Given the description of an element on the screen output the (x, y) to click on. 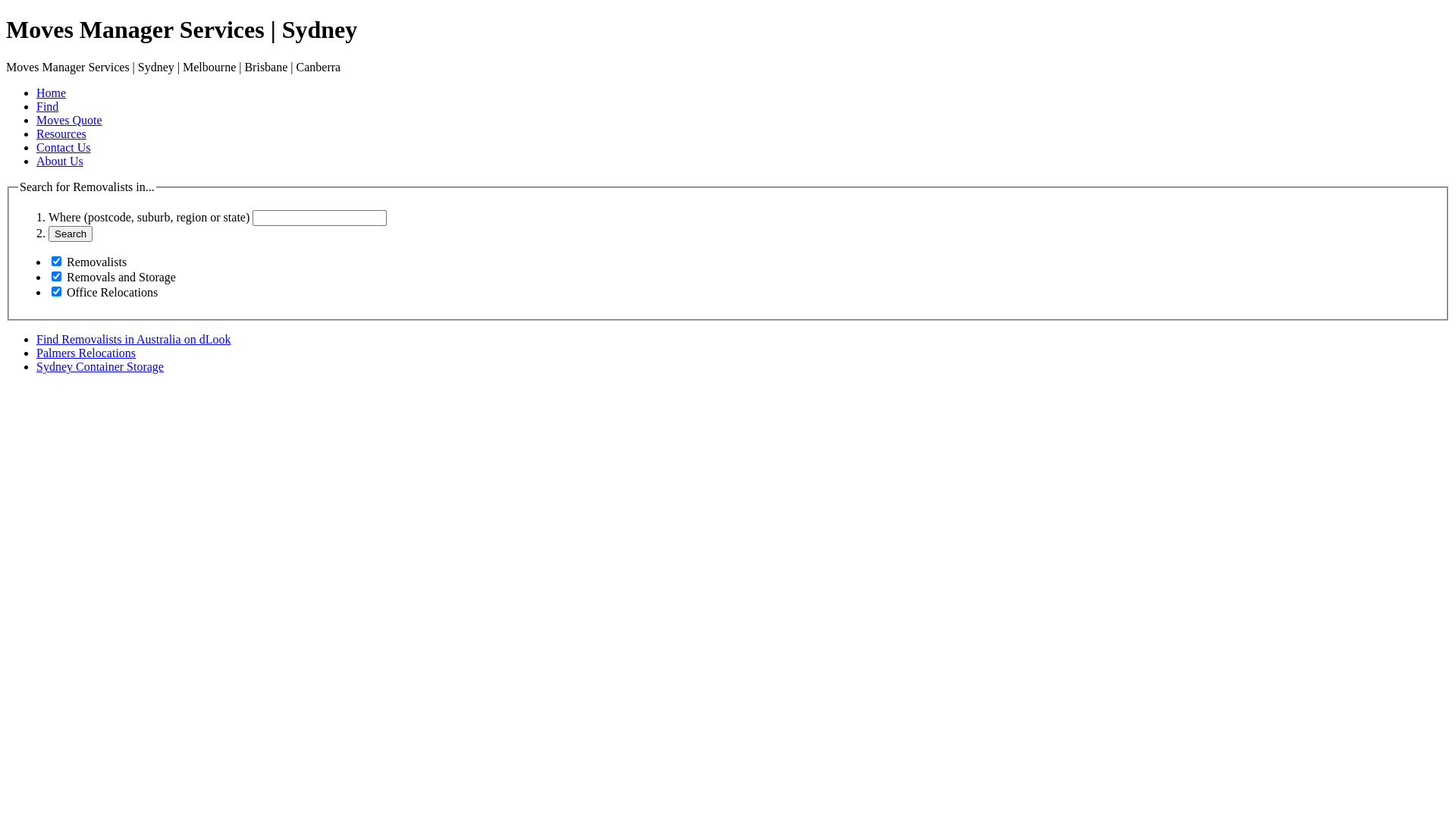
Find Element type: text (47, 106)
Home Element type: text (50, 92)
Where - postcode or suburb. Element type: hover (319, 217)
Find Removalists in Australia on dLook Element type: text (133, 338)
Sydney Container Storage Element type: text (99, 366)
About Us Element type: text (59, 160)
Search Element type: text (70, 233)
Resources Element type: text (61, 133)
Palmers Relocations Element type: text (85, 352)
Contact Us Element type: text (63, 147)
Moves Quote Element type: text (69, 119)
